Given the description of an element on the screen output the (x, y) to click on. 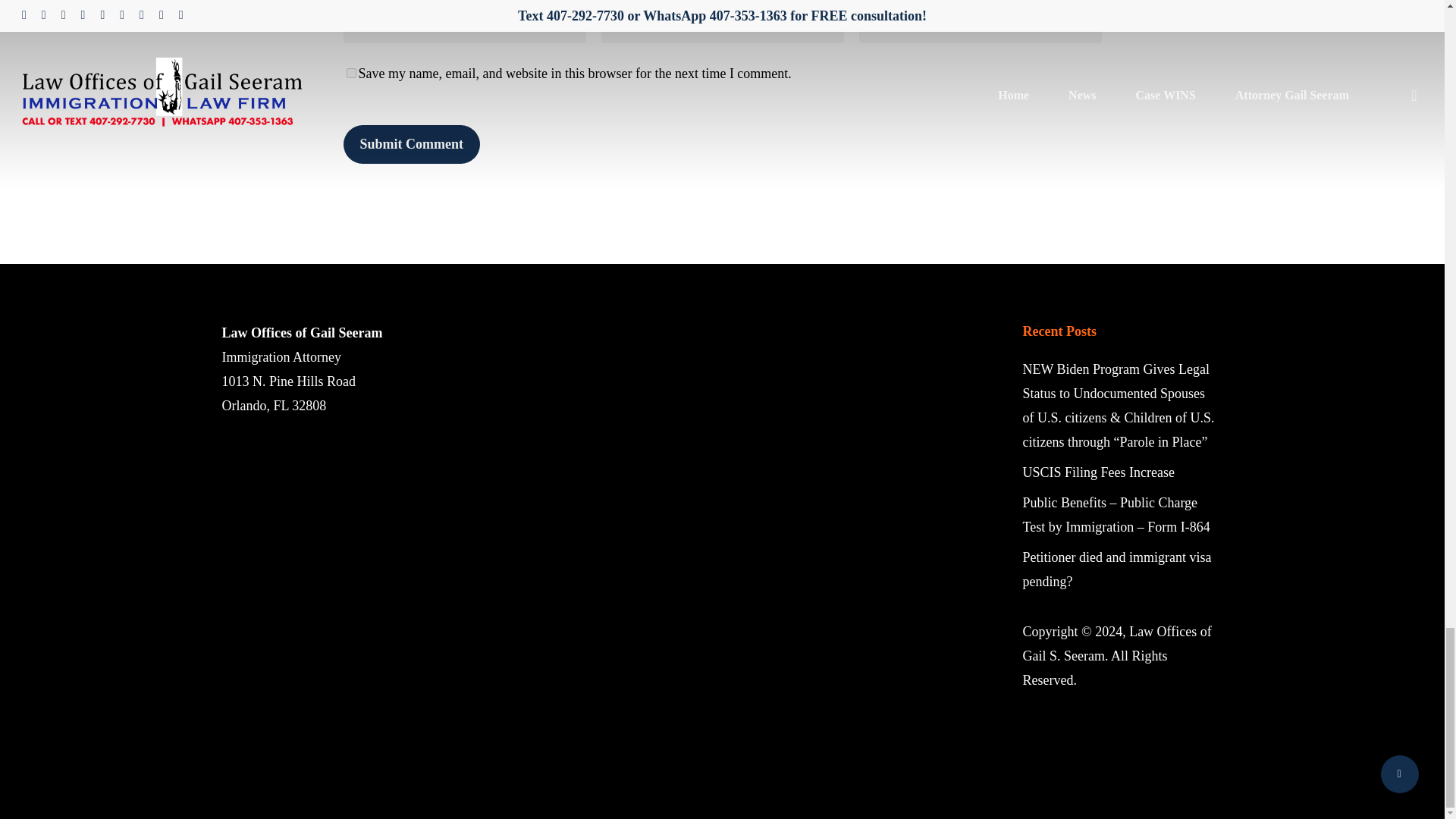
yes (350, 72)
Submit Comment (411, 144)
